Given the description of an element on the screen output the (x, y) to click on. 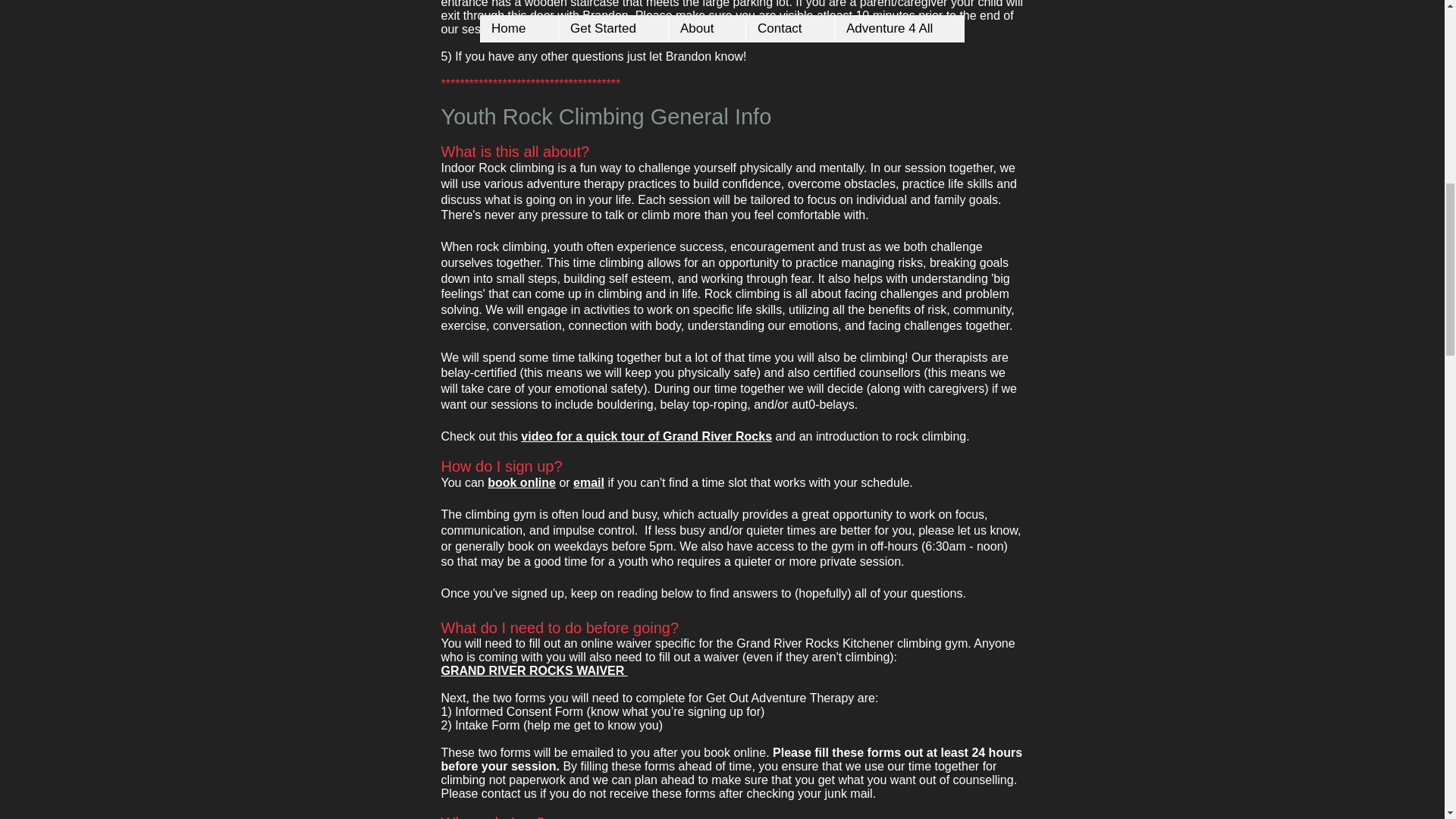
GRAND RIVER ROCKS WAIVER  (534, 670)
email (588, 481)
book online (521, 481)
video for a quick tour of Grand River Rocks (646, 436)
